Given the description of an element on the screen output the (x, y) to click on. 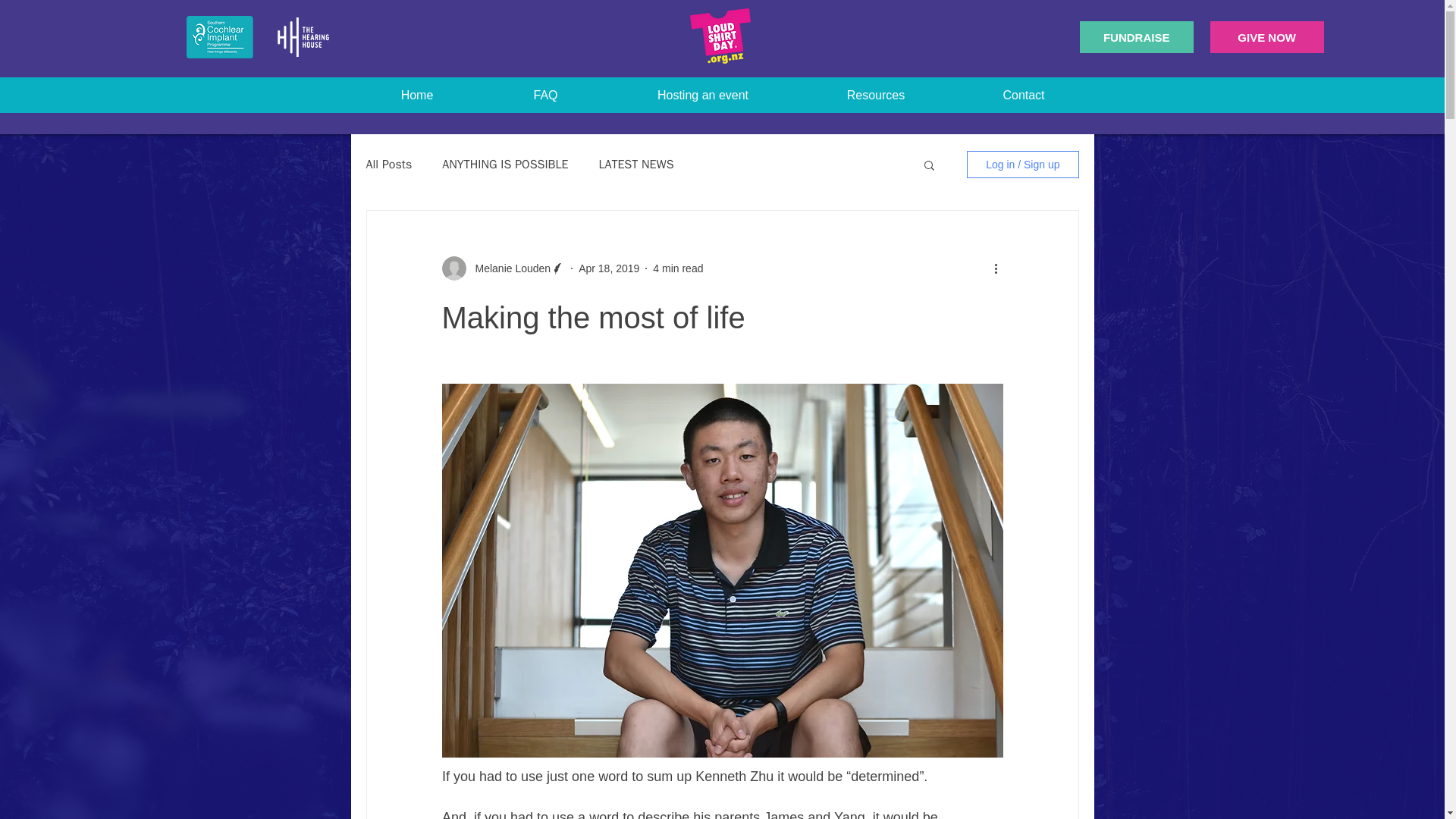
LATEST NEWS (635, 163)
Hosting an event (702, 94)
Resources (874, 94)
4 min read (677, 268)
All Posts (388, 163)
FUNDRAISE (1136, 37)
Home (416, 94)
GIVE NOW (1266, 37)
Melanie Louden (507, 268)
FAQ (545, 94)
